Given the description of an element on the screen output the (x, y) to click on. 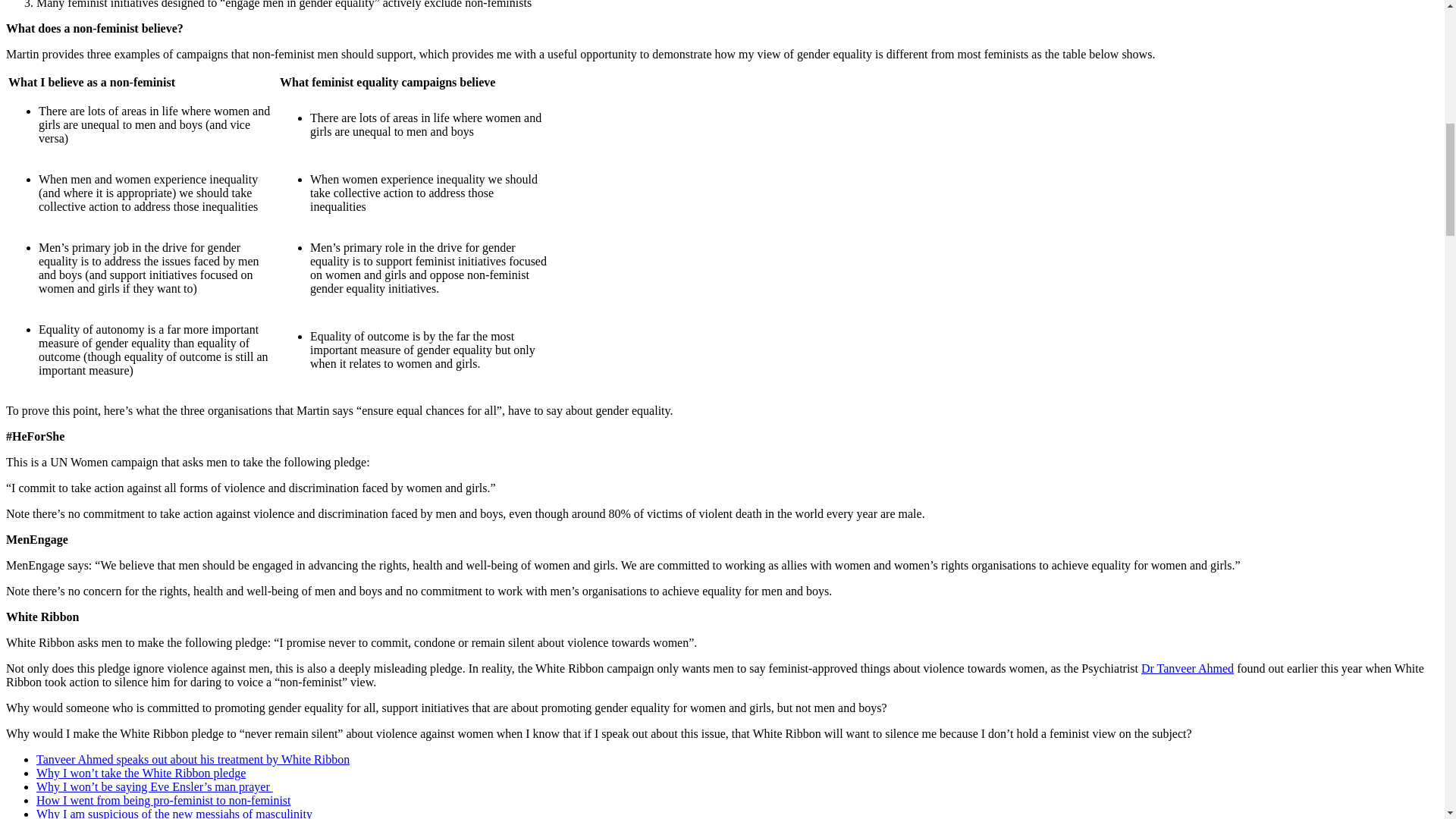
Dr Tanveer Ahmed (1187, 667)
Tanveer Ahmed speaks out about his treatment by White Ribbon (192, 758)
How I went from being pro-feminist to non-feminist (163, 799)
Why I am suspicious of the new messiahs of masculinity (174, 813)
